Given the description of an element on the screen output the (x, y) to click on. 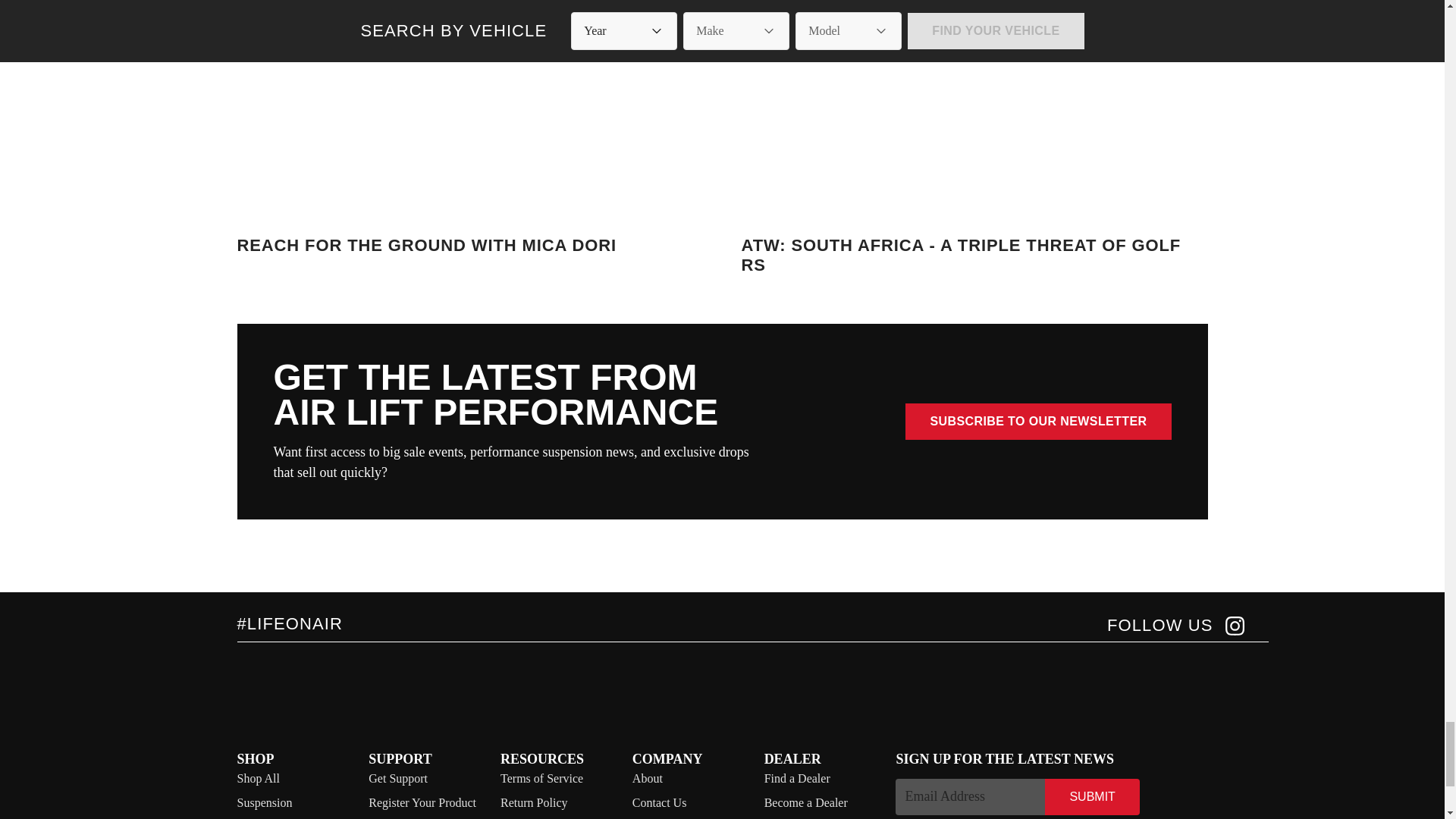
Register Your Product (422, 802)
Suspension (263, 802)
SUBSCRIBE TO OUR NEWSLETTER (1037, 421)
Terms of Service (541, 778)
REACH FOR THE GROUND WITH MICA DORI (469, 138)
ATW: SOUTH AFRICA - A TRIPLE THREAT OF GOLF RS (974, 138)
Shop All (257, 778)
FOLLOW US (1174, 625)
Get Support (398, 778)
